Given the description of an element on the screen output the (x, y) to click on. 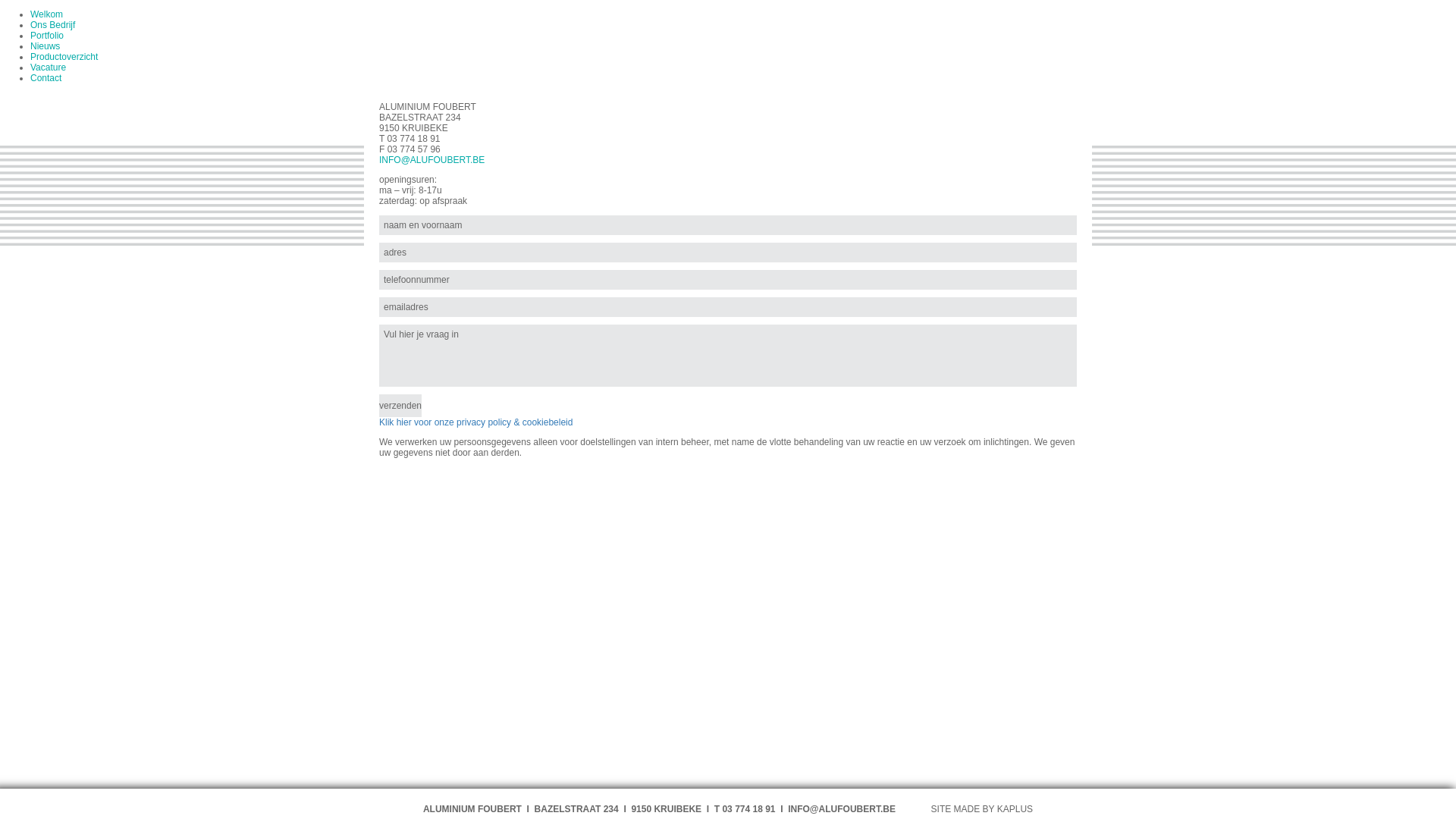
Nieuws Element type: text (44, 45)
Productoverzicht Element type: text (63, 56)
Welkom Element type: text (46, 14)
verzenden Element type: text (400, 405)
INFO@ALUFOUBERT.BE Element type: text (841, 808)
Vacature Element type: text (47, 67)
Klik hier voor onze privacy policy & cookiebeleid Element type: text (475, 422)
Portfolio Element type: text (46, 35)
Contact Element type: text (45, 77)
Ons Bedrijf Element type: text (52, 24)
INFO@ALUFOUBERT.BE Element type: text (431, 159)
